Given the description of an element on the screen output the (x, y) to click on. 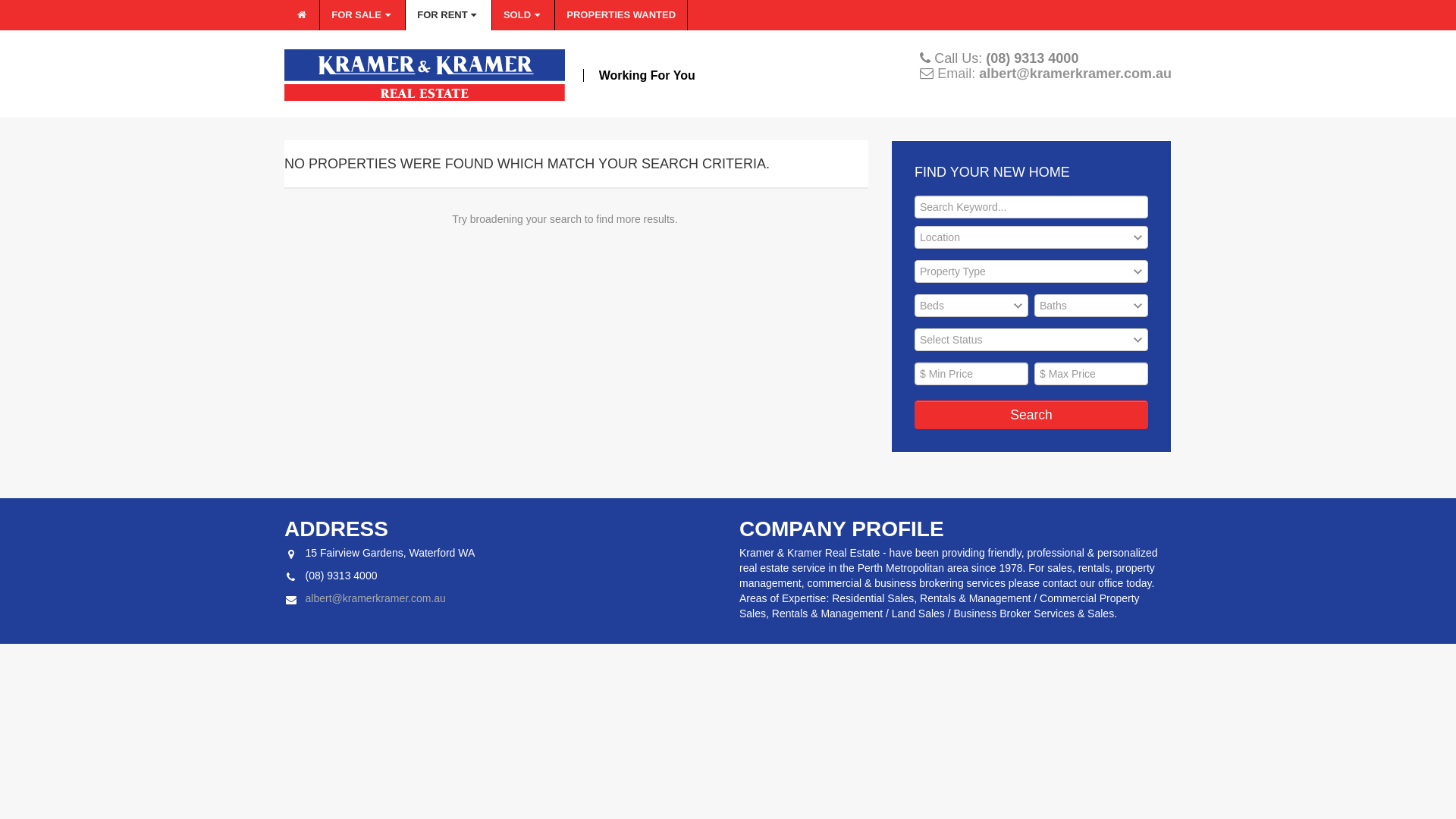
PROPERTIES WANTED Element type: text (621, 15)
SOLD Element type: text (523, 15)
FOR RENT Element type: text (448, 15)
Email: albert@kramerkramer.com.au Element type: text (1052, 73)
albert@kramerkramer.com.au Element type: text (374, 598)
Search Element type: text (1031, 414)
FOR SALE Element type: text (362, 15)
Home Element type: hover (302, 15)
